Given the description of an element on the screen output the (x, y) to click on. 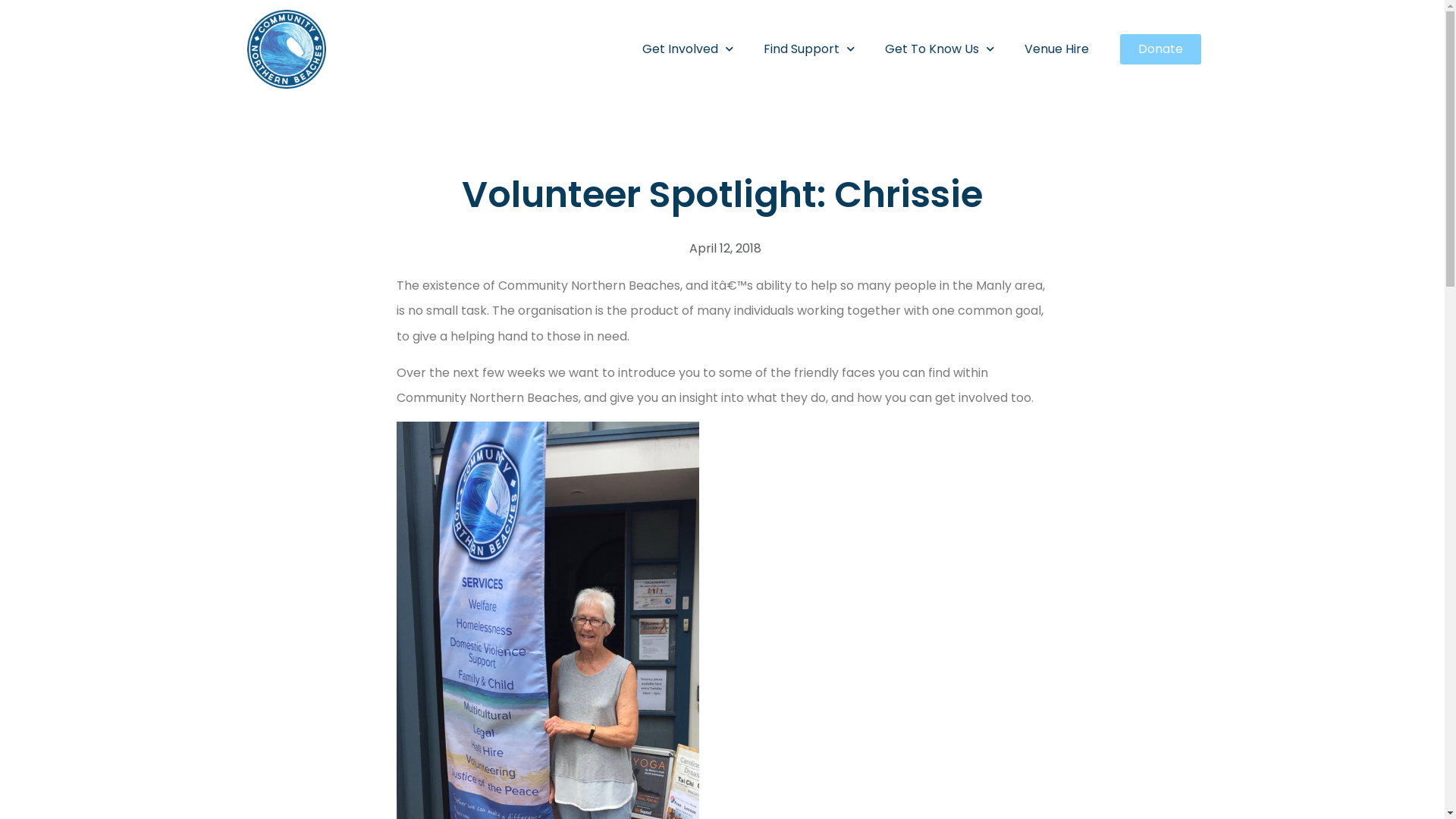
Get Involved Element type: text (687, 48)
Get To Know Us Element type: text (939, 48)
Donate Element type: text (1160, 49)
Find Support Element type: text (808, 48)
April 12, 2018 Element type: text (722, 248)
Venue Hire Element type: text (1056, 48)
